Given the description of an element on the screen output the (x, y) to click on. 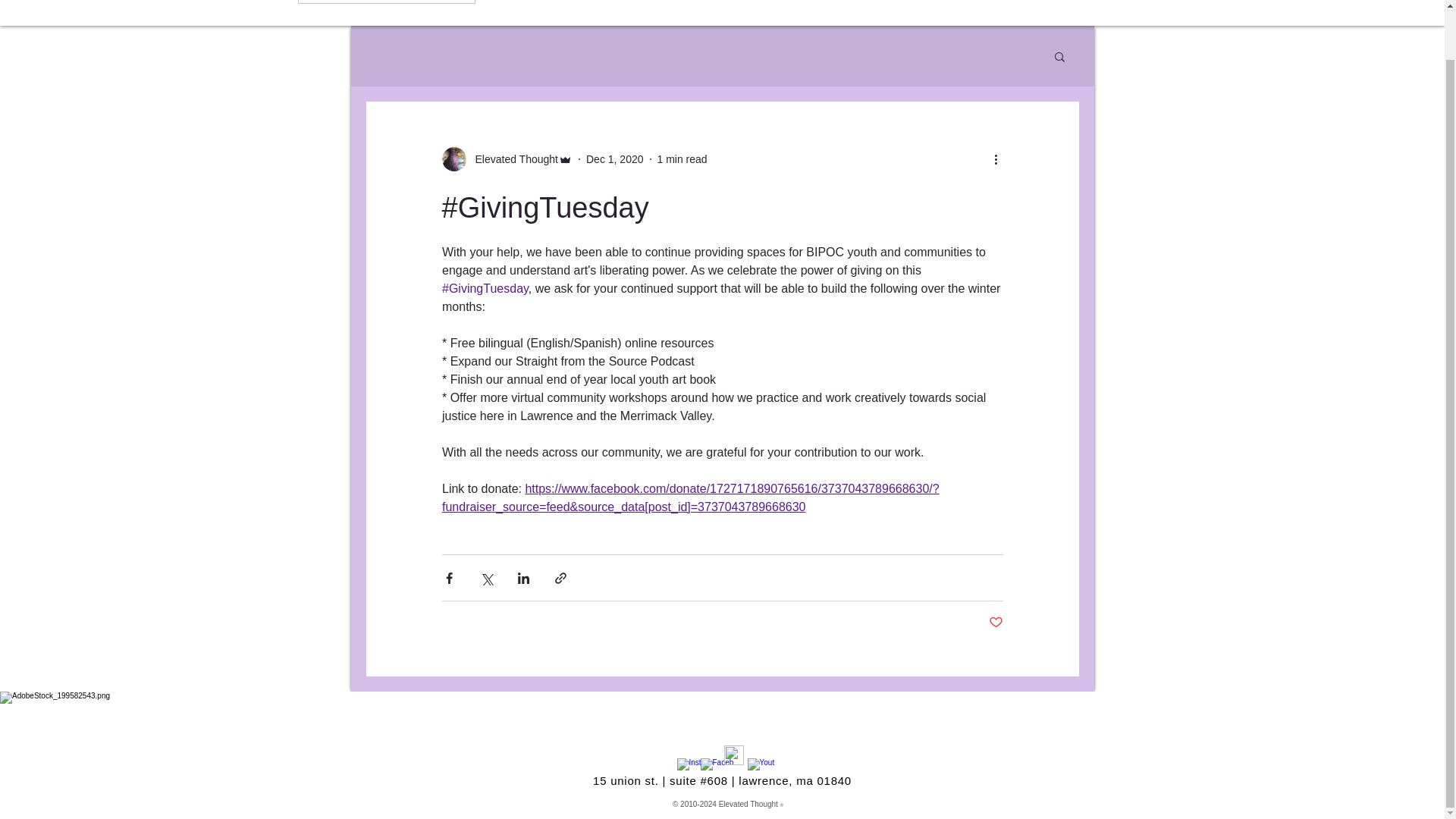
contact (980, 5)
Dec 1, 2020 (614, 159)
programs (720, 5)
Elevated Thought (511, 159)
creatives (634, 5)
updates (900, 5)
comissions (812, 5)
Elevated Thought (506, 159)
1 min read (681, 159)
donate (1056, 5)
Post not marked as liked (995, 622)
about (556, 5)
